Given the description of an element on the screen output the (x, y) to click on. 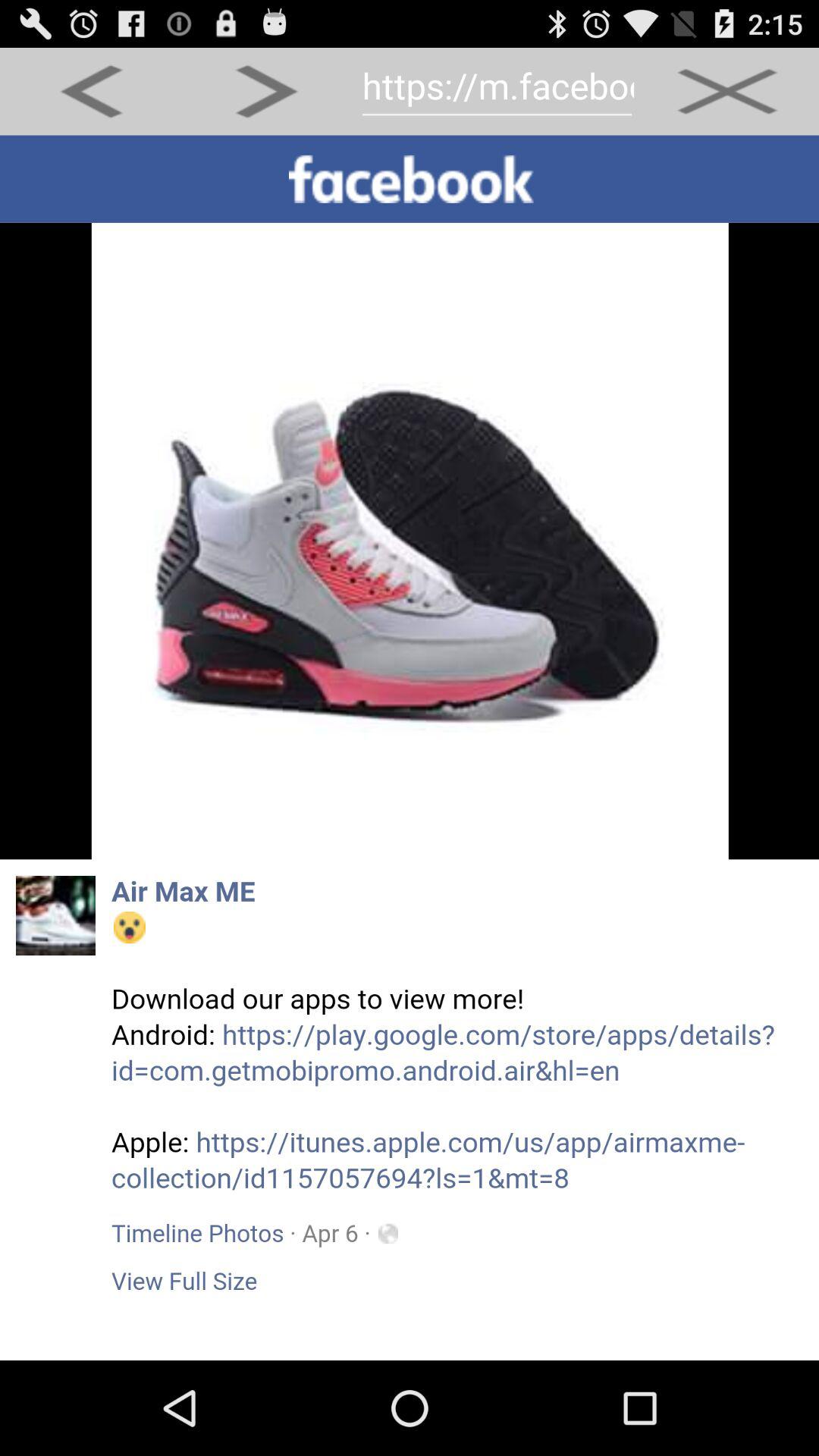
close window (727, 91)
